Given the description of an element on the screen output the (x, y) to click on. 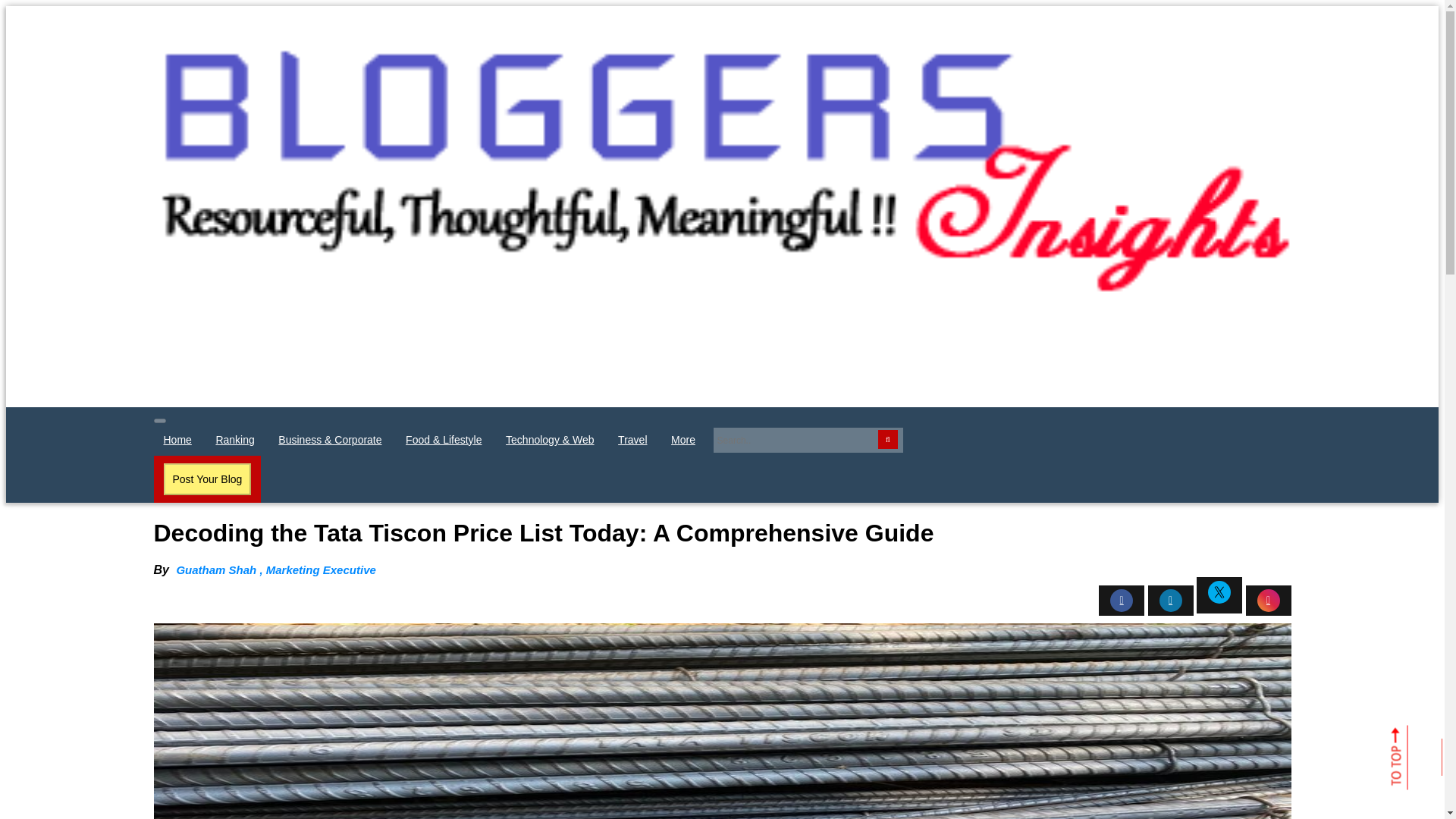
Home (177, 440)
Post Your Blog (207, 479)
Guatham Shah , Marketing Executive (273, 569)
Ranking (234, 440)
3rd party ad content (428, 373)
Travel (631, 440)
Post Your Blog (207, 478)
More (683, 440)
